Given the description of an element on the screen output the (x, y) to click on. 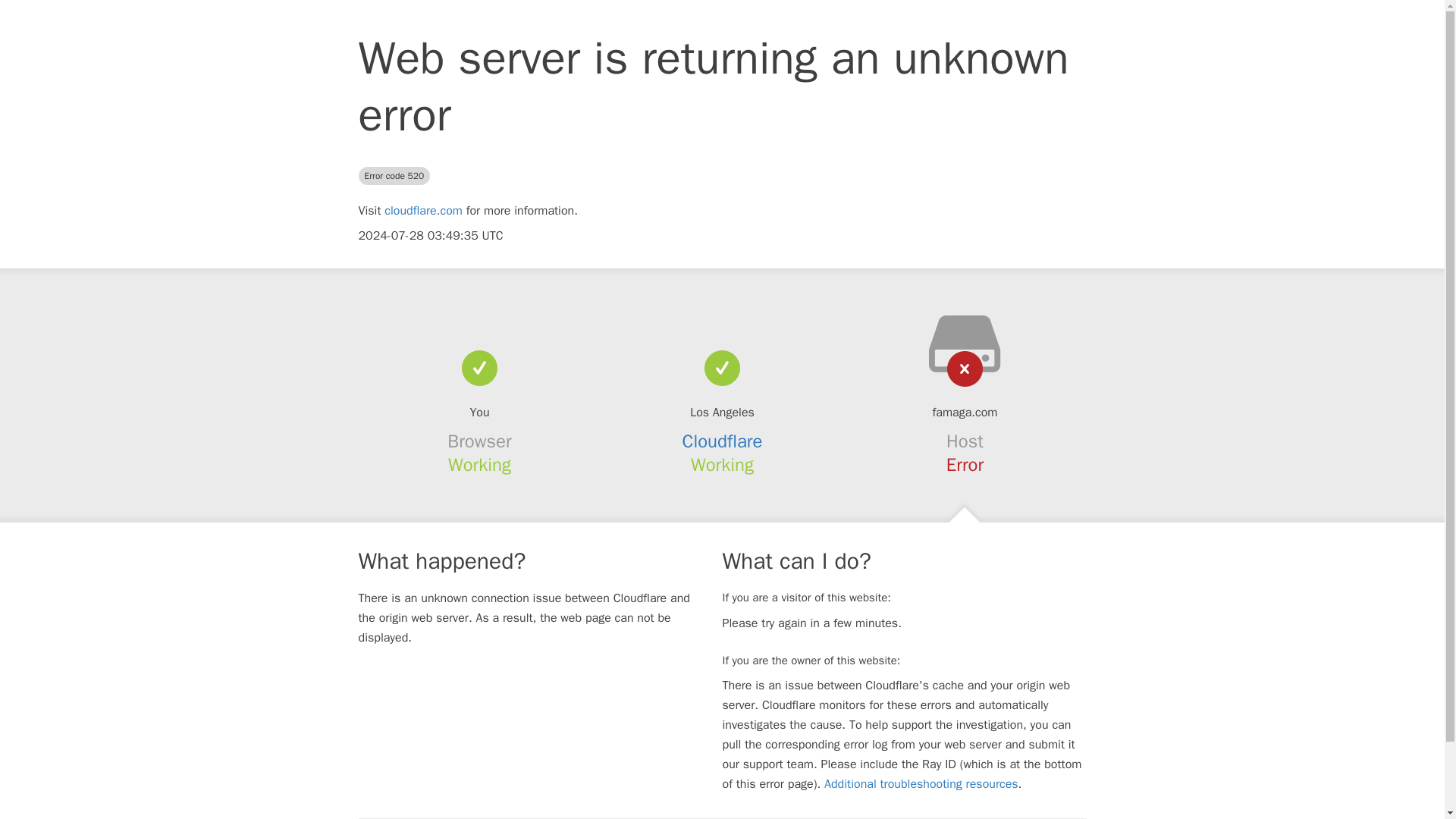
Cloudflare (722, 440)
Additional troubleshooting resources (920, 783)
cloudflare.com (423, 210)
